Given the description of an element on the screen output the (x, y) to click on. 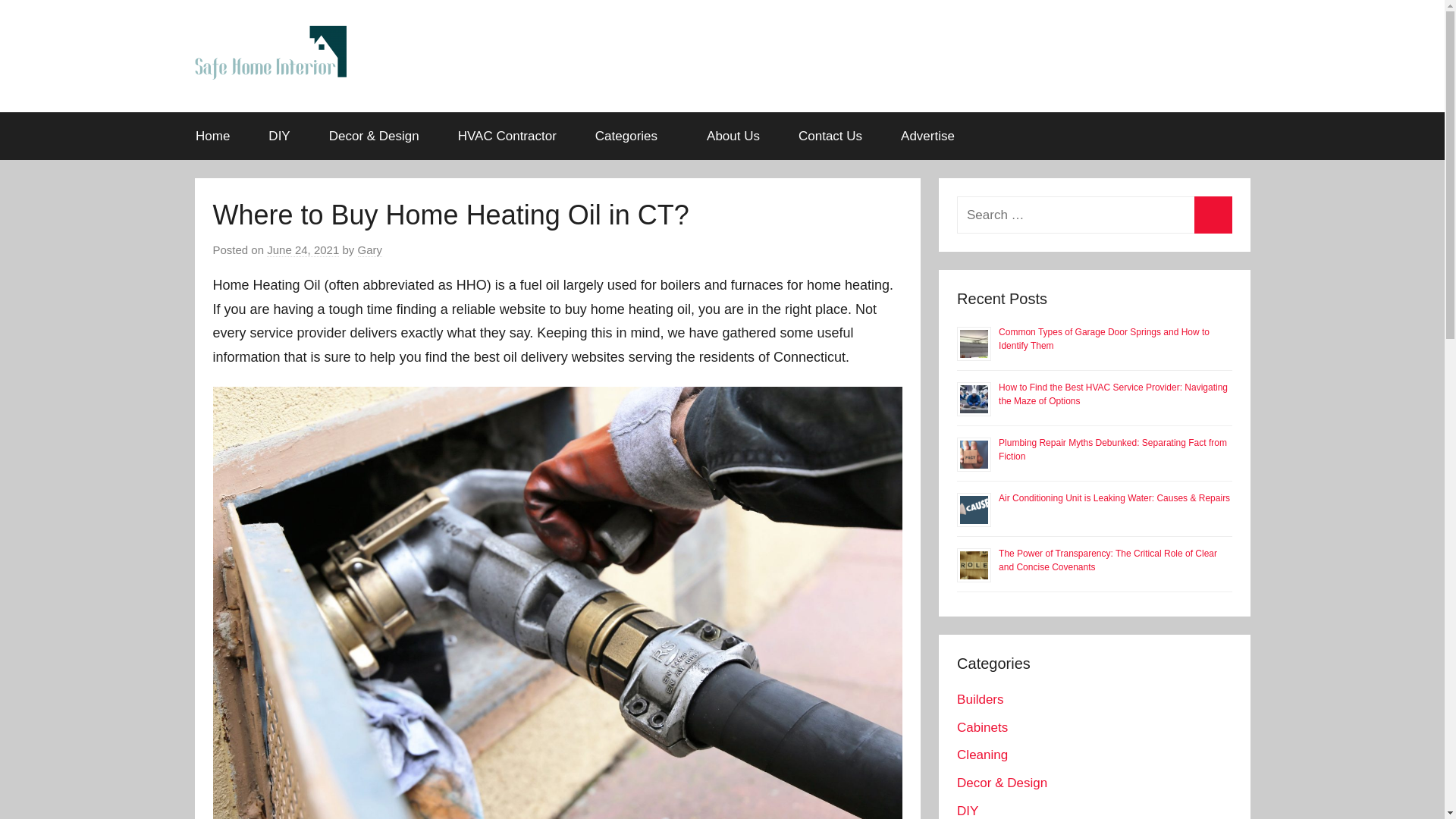
Search for: (1093, 214)
June 24, 2021 (302, 250)
Gary (370, 250)
Categories (631, 136)
HVAC Contractor (506, 136)
Advertise (928, 136)
Contact Us (829, 136)
Home (212, 136)
About Us (732, 136)
Search (1212, 214)
DIY (278, 136)
View all posts by Gary (370, 250)
